Given the description of an element on the screen output the (x, y) to click on. 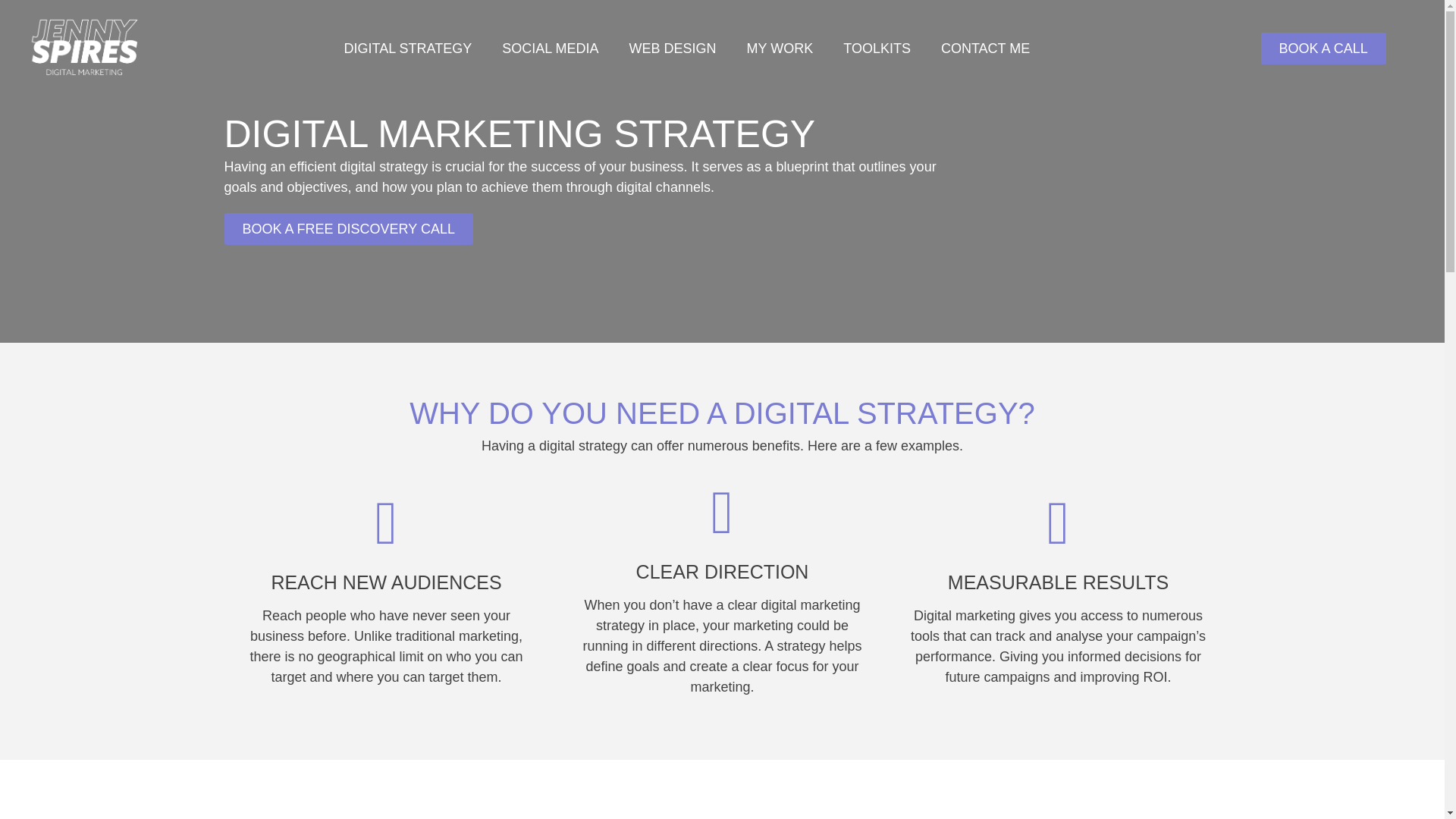
DIGITAL STRATEGY (407, 48)
SOCIAL MEDIA (549, 48)
WEB DESIGN (673, 48)
TOOLKITS (877, 48)
BOOK A FREE DISCOVERY CALL (348, 228)
MY WORK (780, 48)
BOOK A CALL (1323, 48)
CONTACT ME (985, 48)
